Given the description of an element on the screen output the (x, y) to click on. 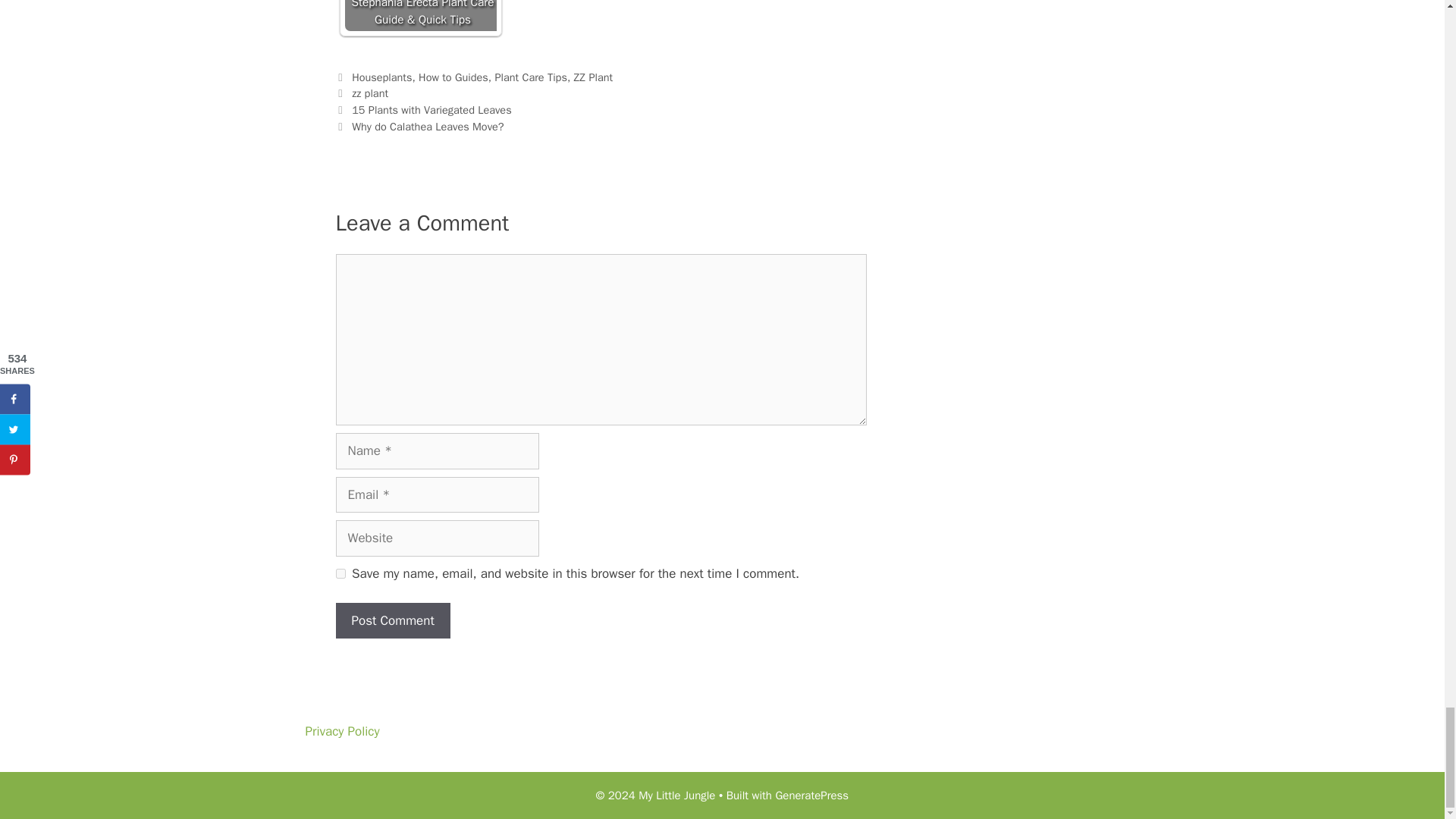
15 Plants with Variegated Leaves (432, 110)
Houseplants (382, 77)
zz plant (370, 92)
Plant Care Tips (530, 77)
How to Guides (453, 77)
Post Comment (391, 620)
yes (339, 573)
Post Comment (391, 620)
ZZ Plant (592, 77)
Why do Calathea Leaves Move? (427, 126)
